Given the description of an element on the screen output the (x, y) to click on. 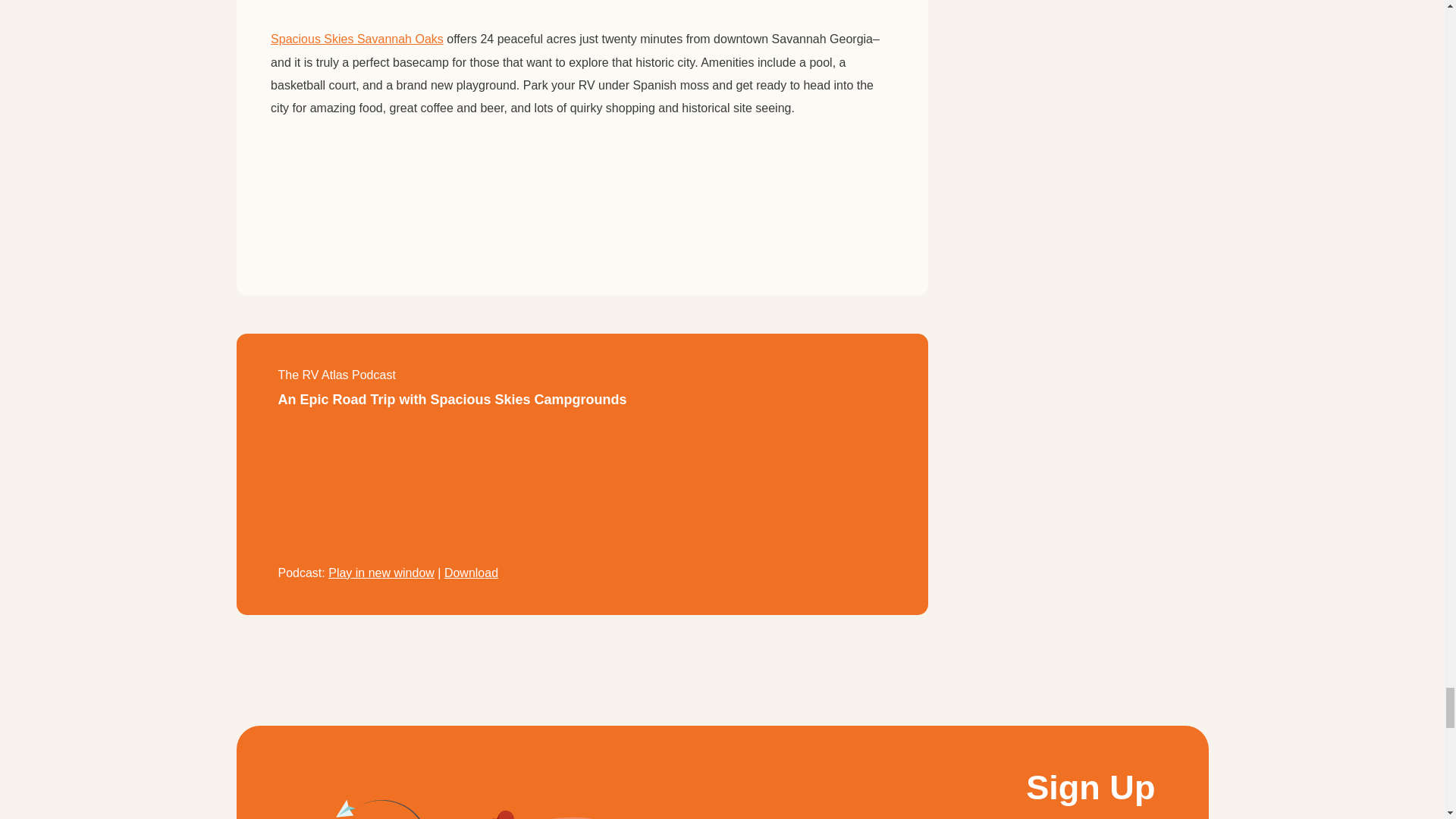
Download (470, 572)
Download (470, 572)
Blubrry Podcast Player (581, 490)
newsletter (498, 805)
Play in new window (381, 572)
Spacious Skies Savannah Oaks (357, 38)
Play in new window (381, 572)
